Given the description of an element on the screen output the (x, y) to click on. 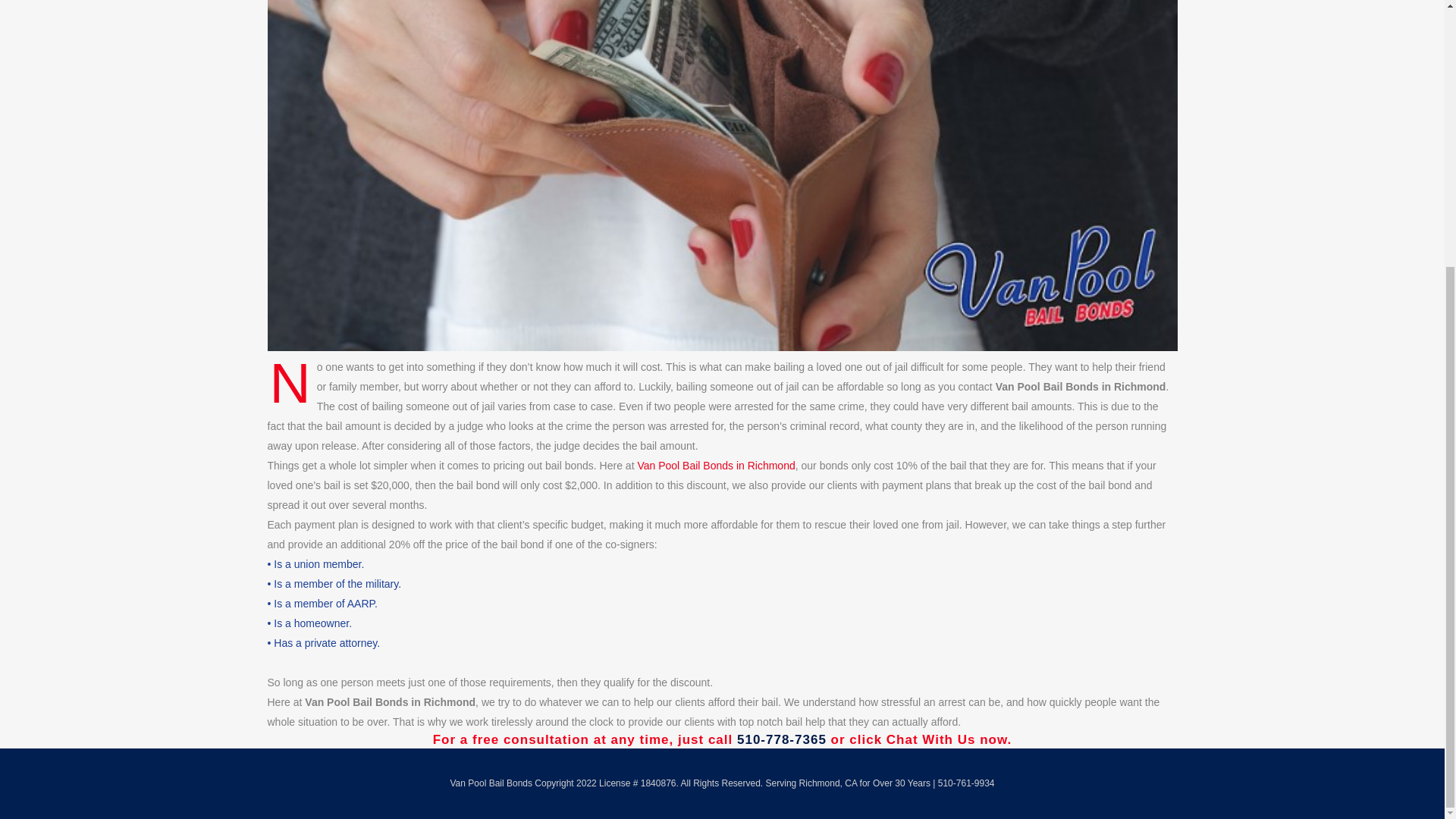
Van Pool Bail Bonds in Richmond (715, 465)
Van Pool Bail Bonds in Richmond (781, 739)
Van Pool Bail Bonds in Richmond (715, 465)
510-778-7365 (781, 739)
